Given the description of an element on the screen output the (x, y) to click on. 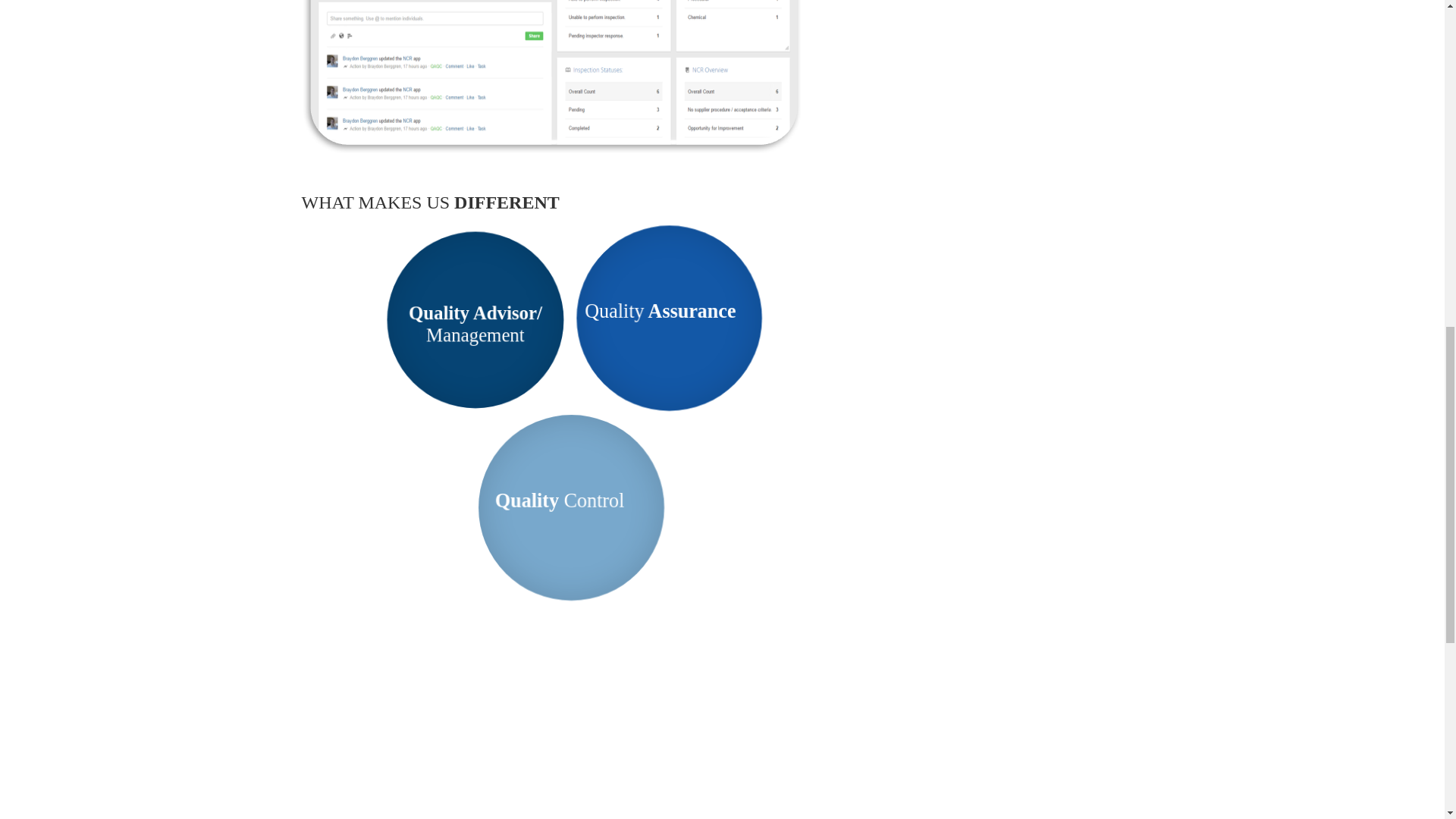
Quality Assurance (662, 313)
Quality Control (560, 501)
